Given the description of an element on the screen output the (x, y) to click on. 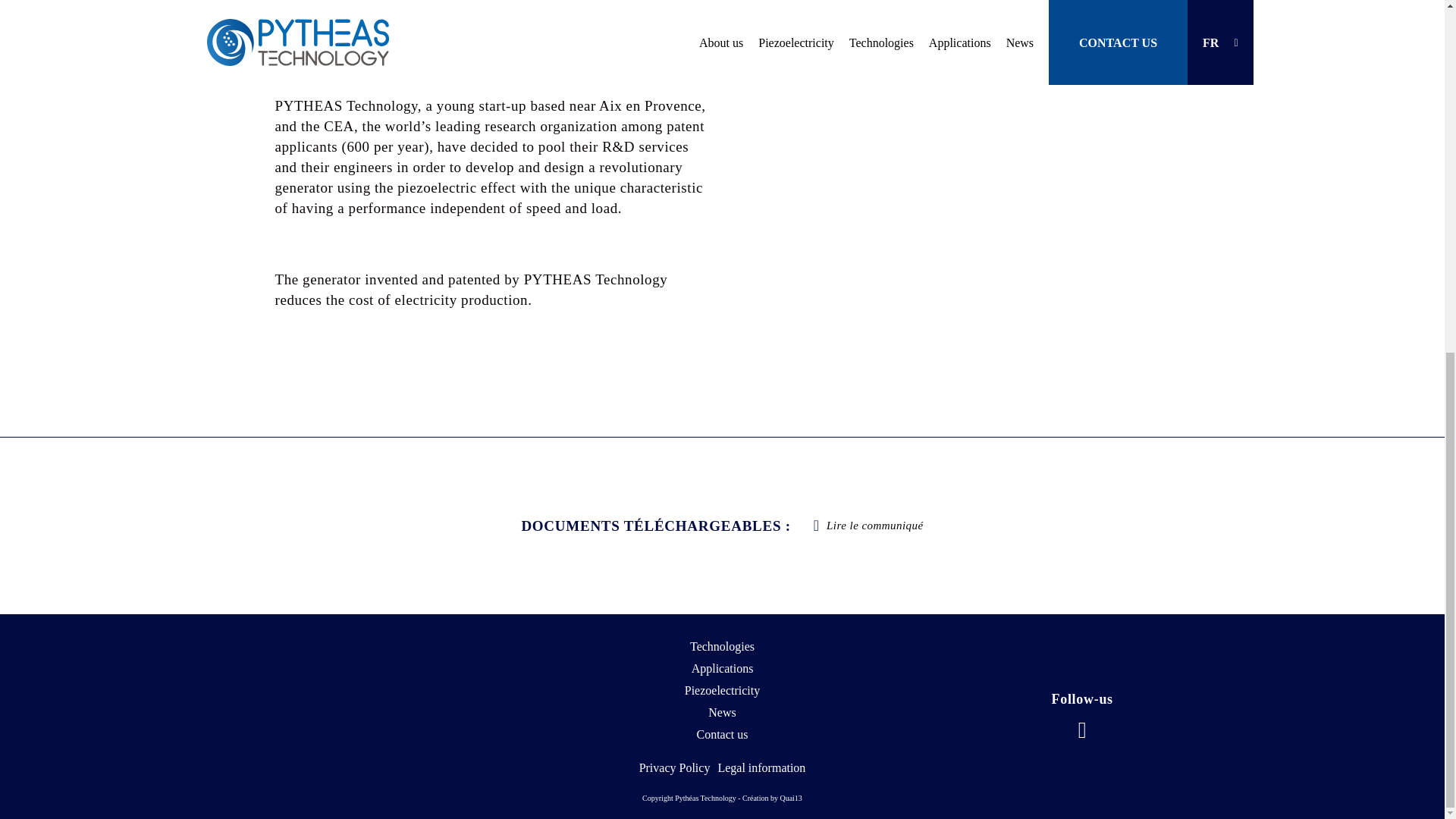
Pytheas Technology (361, 699)
